Given the description of an element on the screen output the (x, y) to click on. 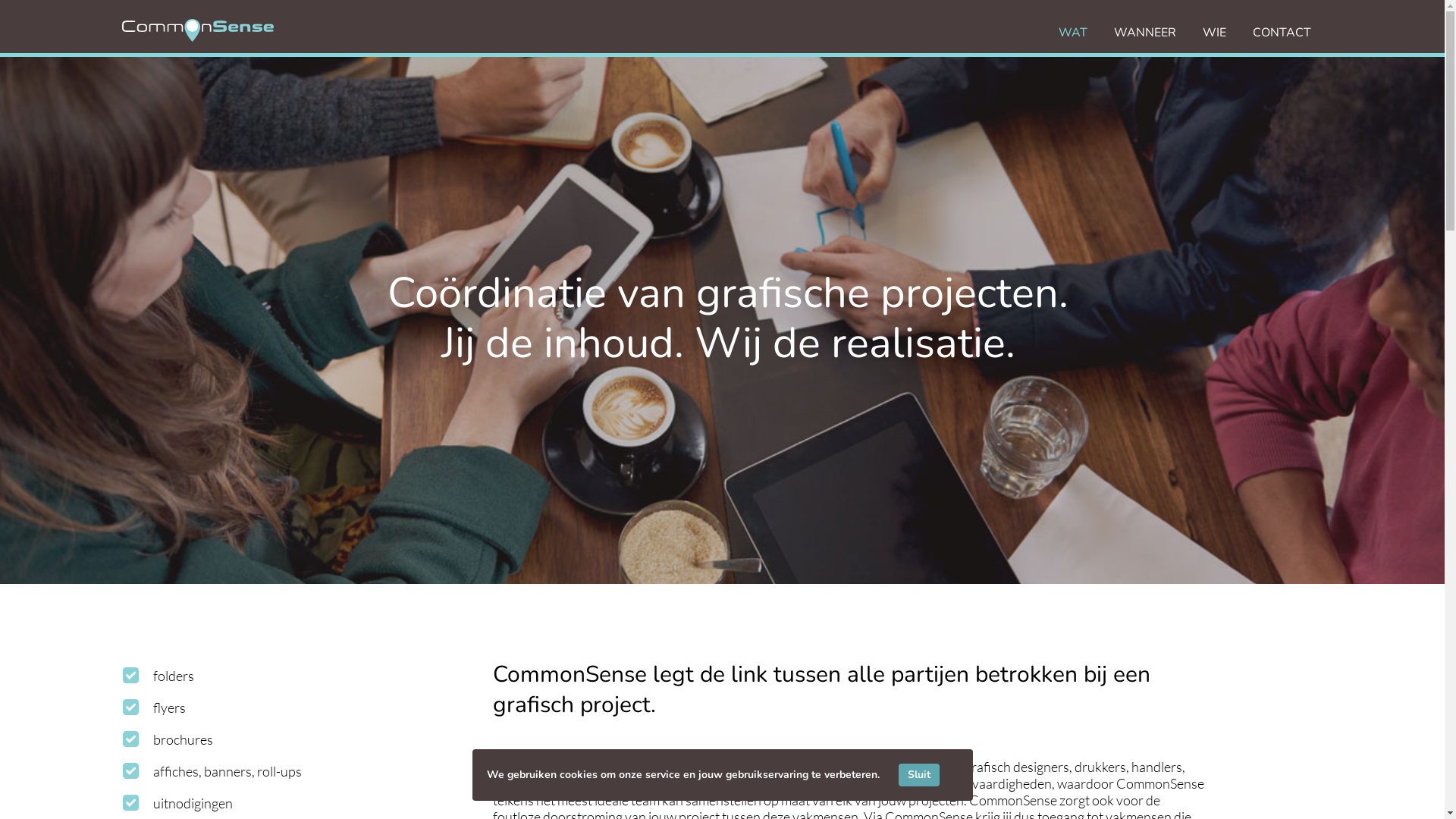
WAT Element type: text (1072, 32)
Sluit Element type: text (917, 774)
WIE Element type: text (1214, 32)
CONTACT Element type: text (1281, 32)
WANNEER Element type: text (1144, 32)
